Given the description of an element on the screen output the (x, y) to click on. 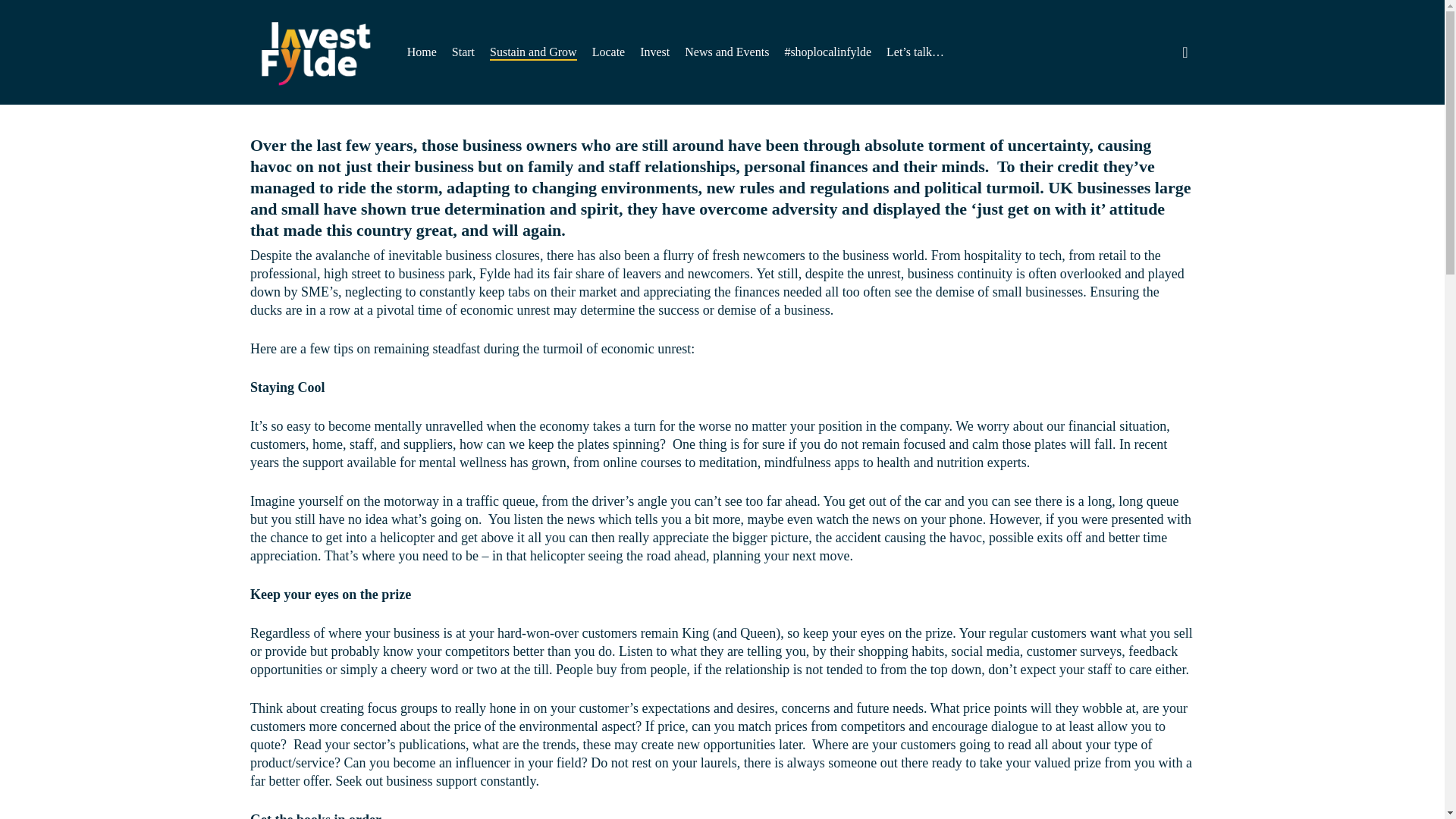
Home (421, 52)
News and Events (726, 52)
search (1184, 51)
Locate (609, 52)
Invest (654, 52)
Start (462, 52)
Sustain and Grow (532, 52)
